Given the description of an element on the screen output the (x, y) to click on. 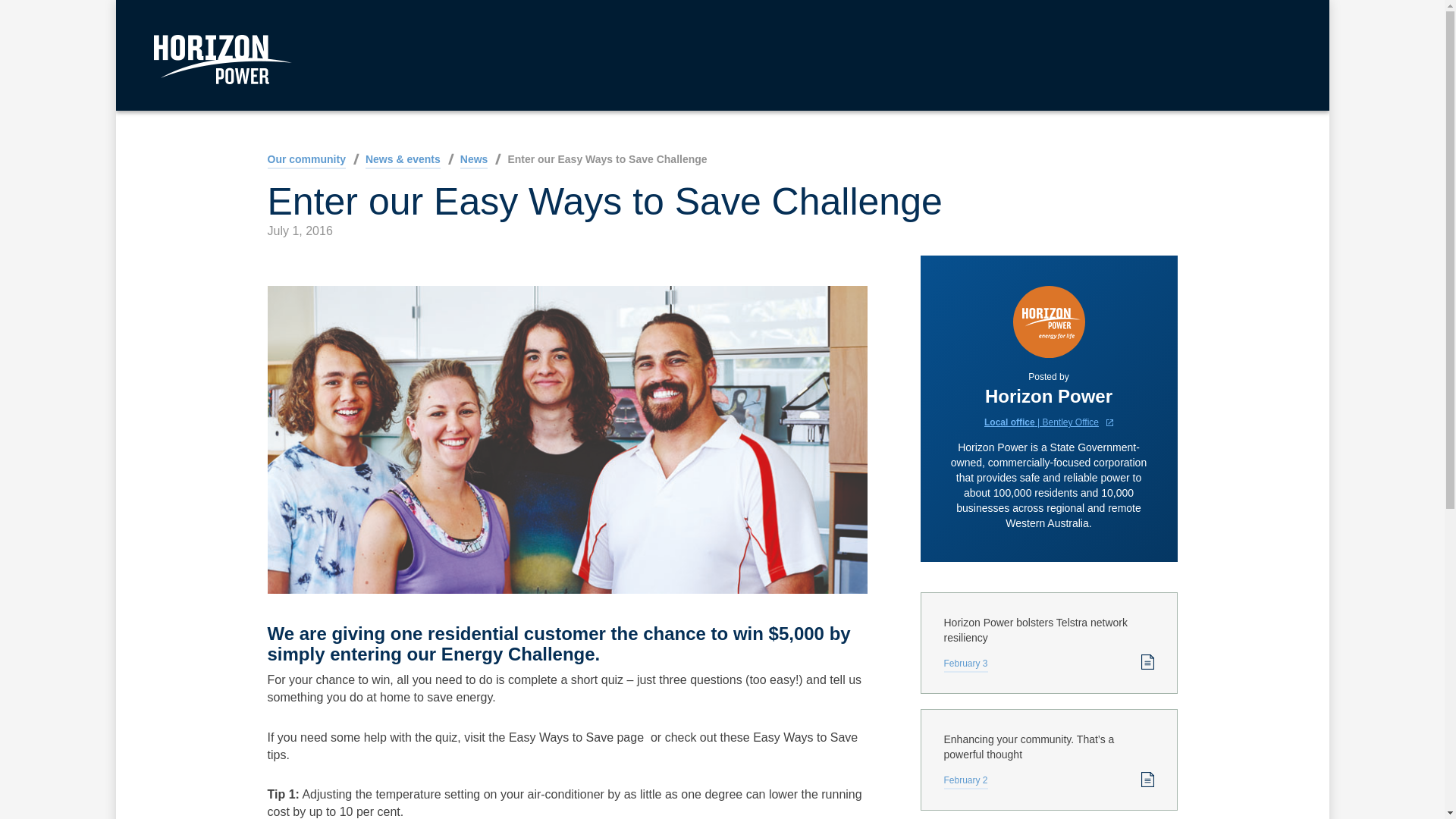
News (473, 160)
February 3 (965, 665)
Horizon Power (221, 60)
February 2 (965, 781)
Our community (305, 160)
